Given the description of an element on the screen output the (x, y) to click on. 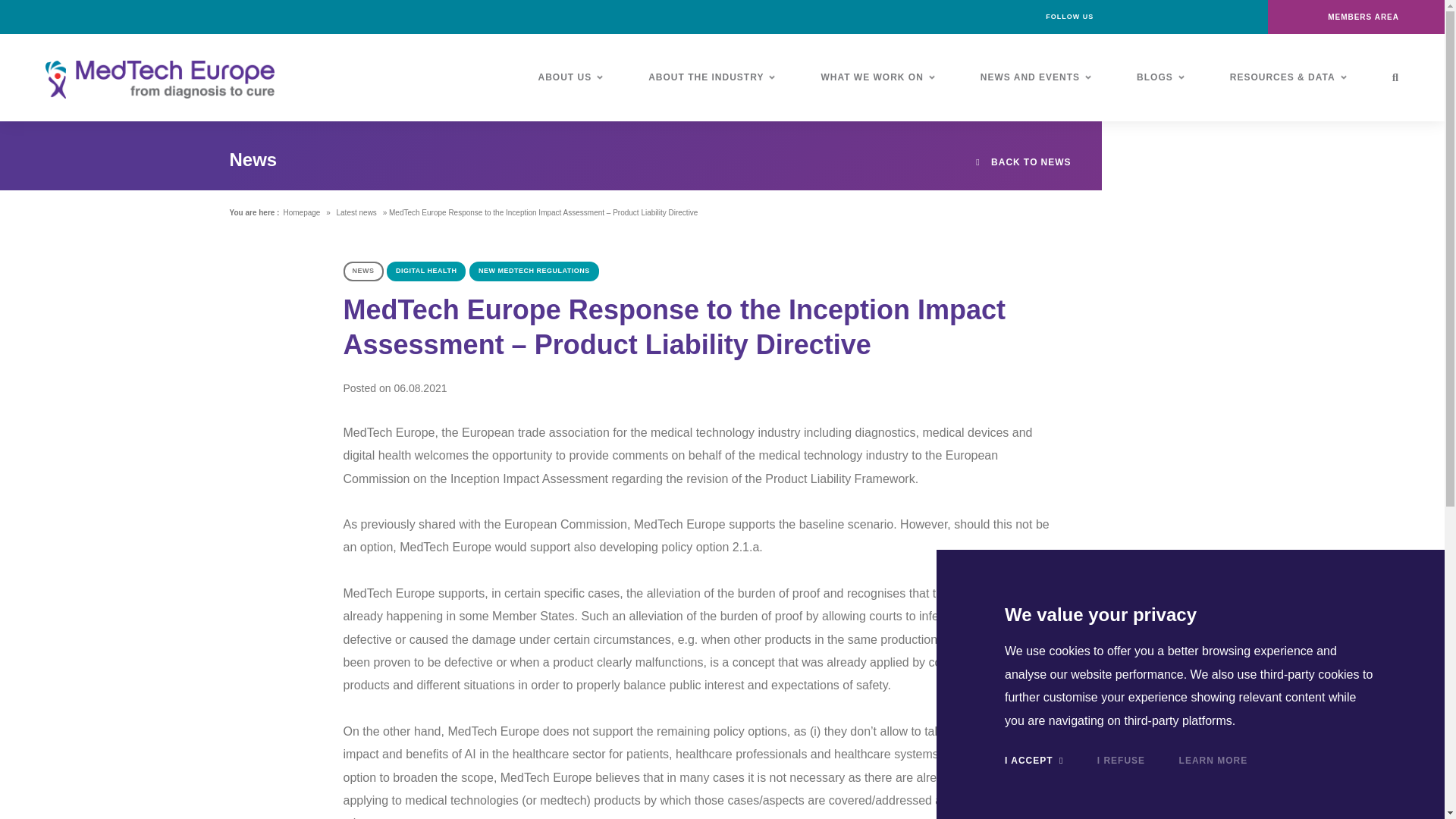
Share on Linkedin (1202, 793)
LEARN MORE (1213, 760)
Share on Twitter (1202, 813)
Youtube (1220, 17)
MEMBERS AREA (1356, 17)
I ACCEPT (1033, 760)
I REFUSE (1120, 760)
Facebook (1117, 17)
Twitter (1186, 17)
Linkedin (1152, 17)
